Given the description of an element on the screen output the (x, y) to click on. 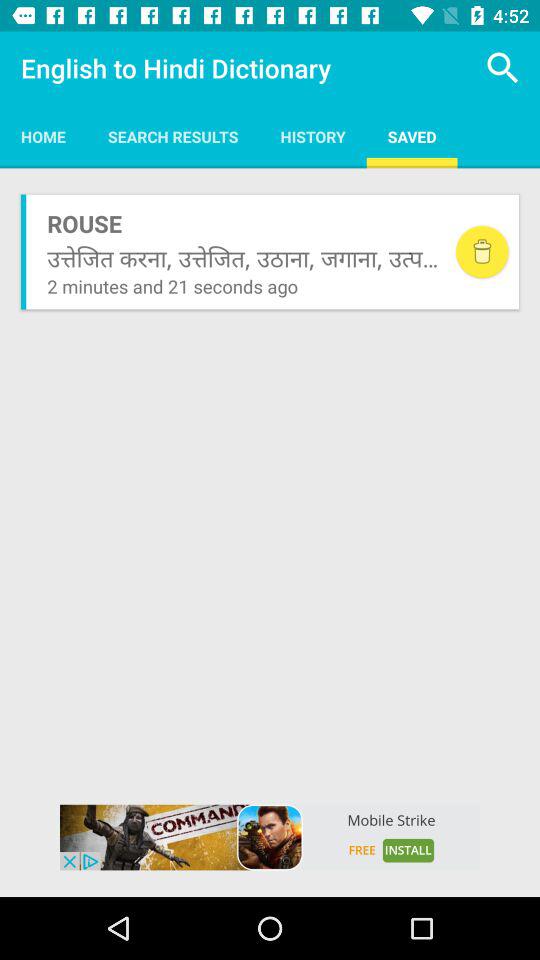
for delete (482, 251)
